Given the description of an element on the screen output the (x, y) to click on. 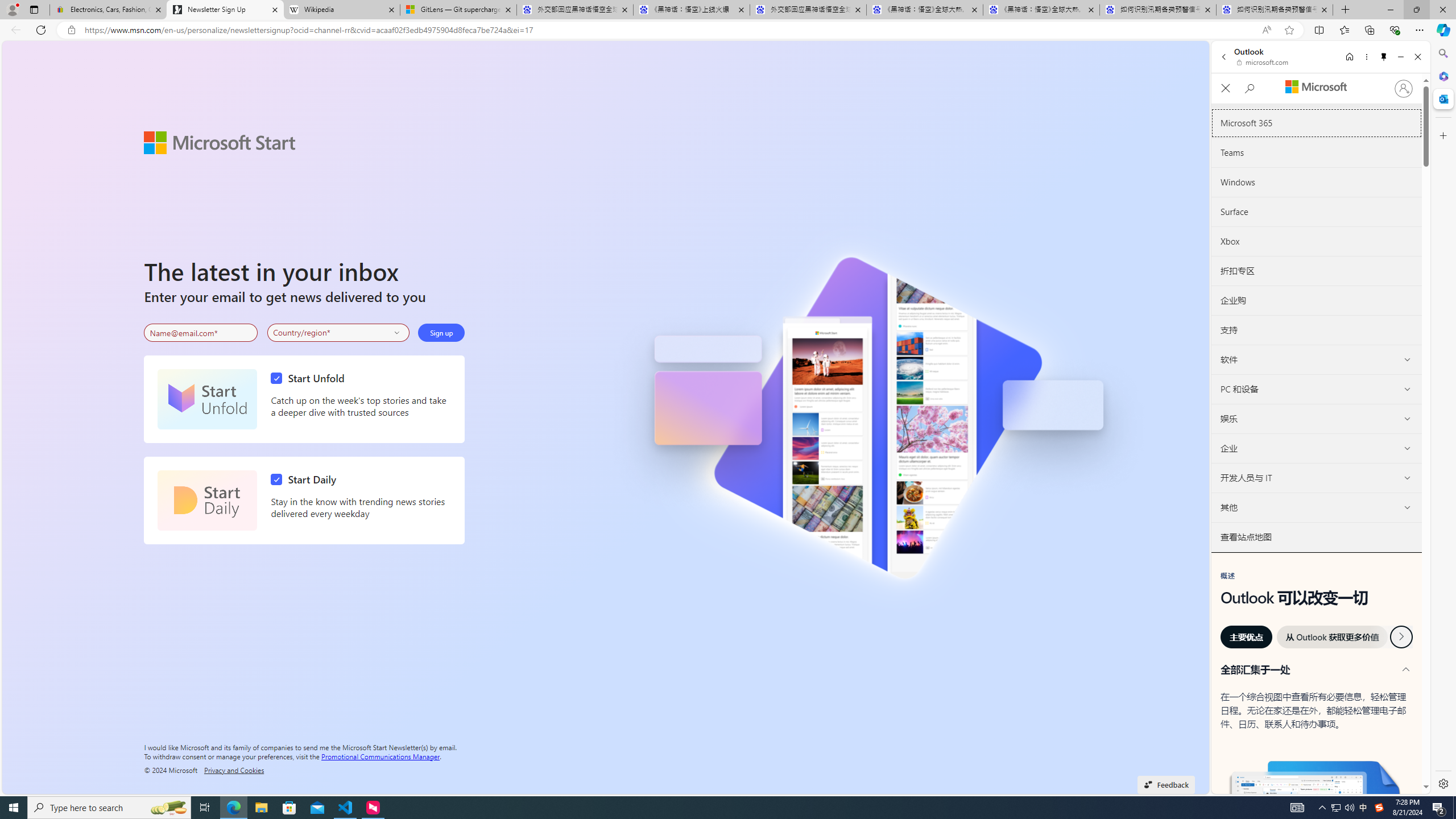
Xbox (1316, 241)
Surface (1316, 212)
Start Daily (306, 479)
